Given the description of an element on the screen output the (x, y) to click on. 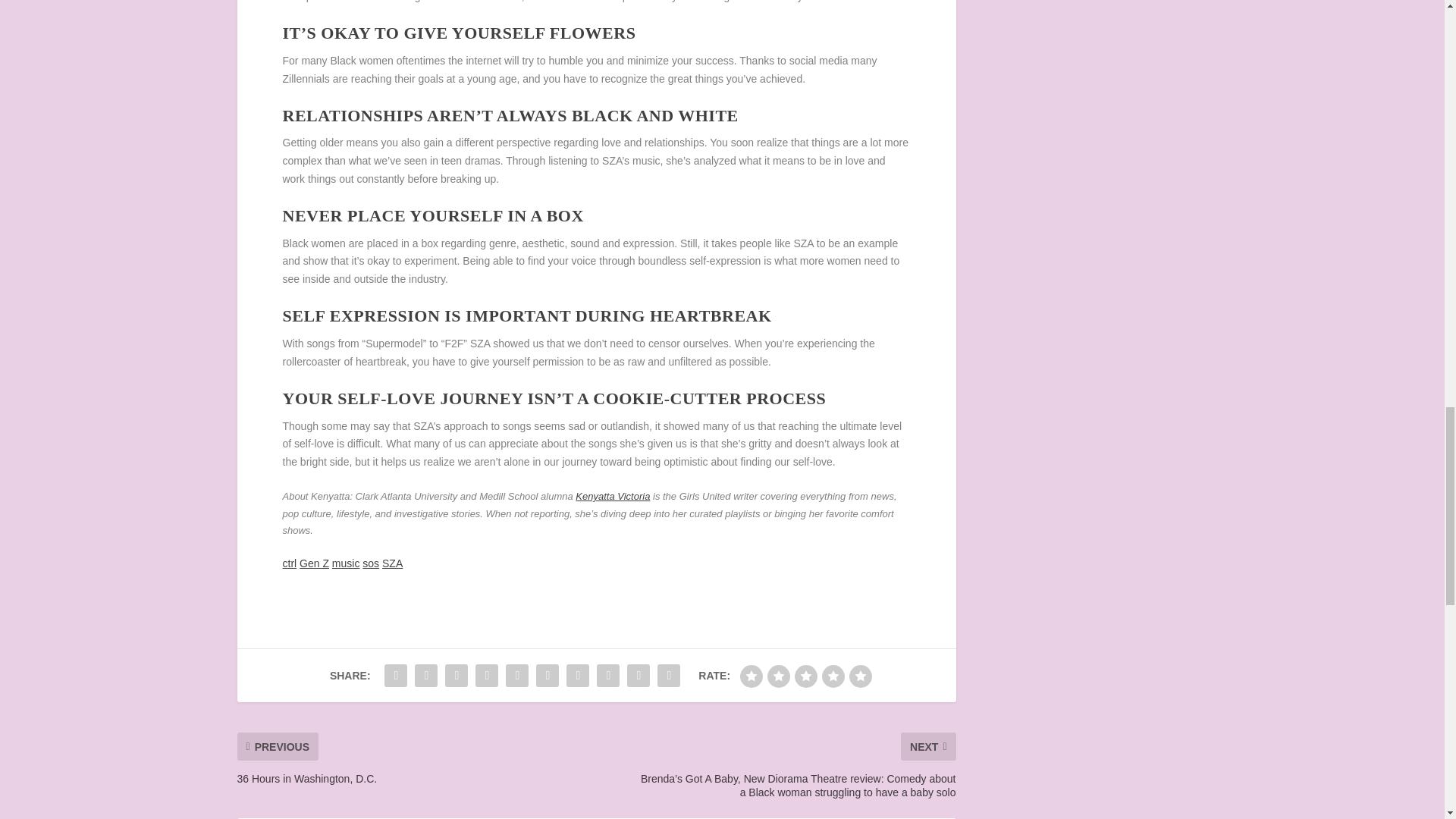
music (345, 562)
SZA (392, 562)
sos (370, 562)
Kenyatta Victoria (612, 496)
ctrl (289, 562)
Gen Z (314, 562)
